Given the description of an element on the screen output the (x, y) to click on. 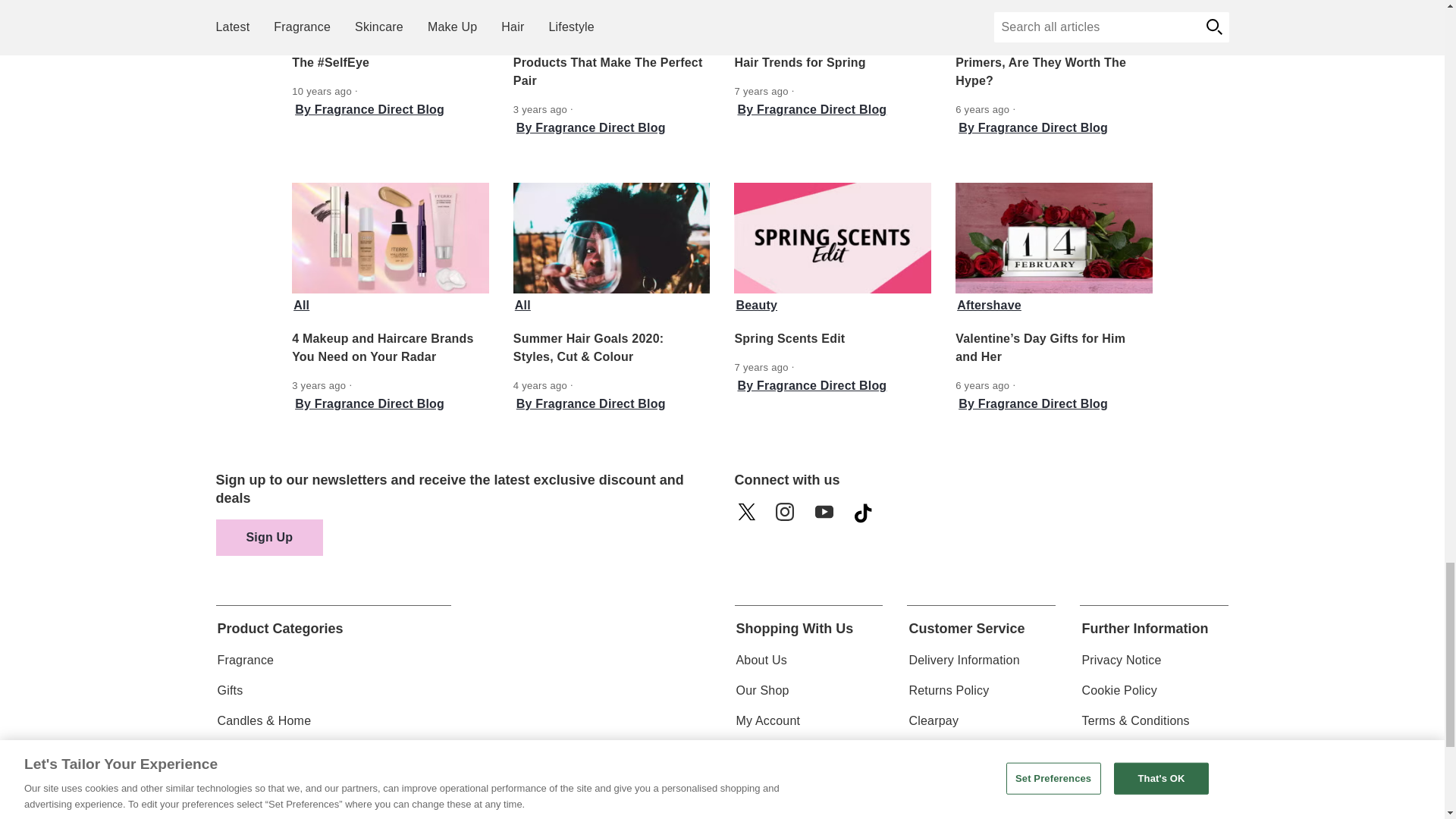
twitter (750, 517)
youtube (828, 517)
instagram (789, 517)
tiktok (868, 517)
